Given the description of an element on the screen output the (x, y) to click on. 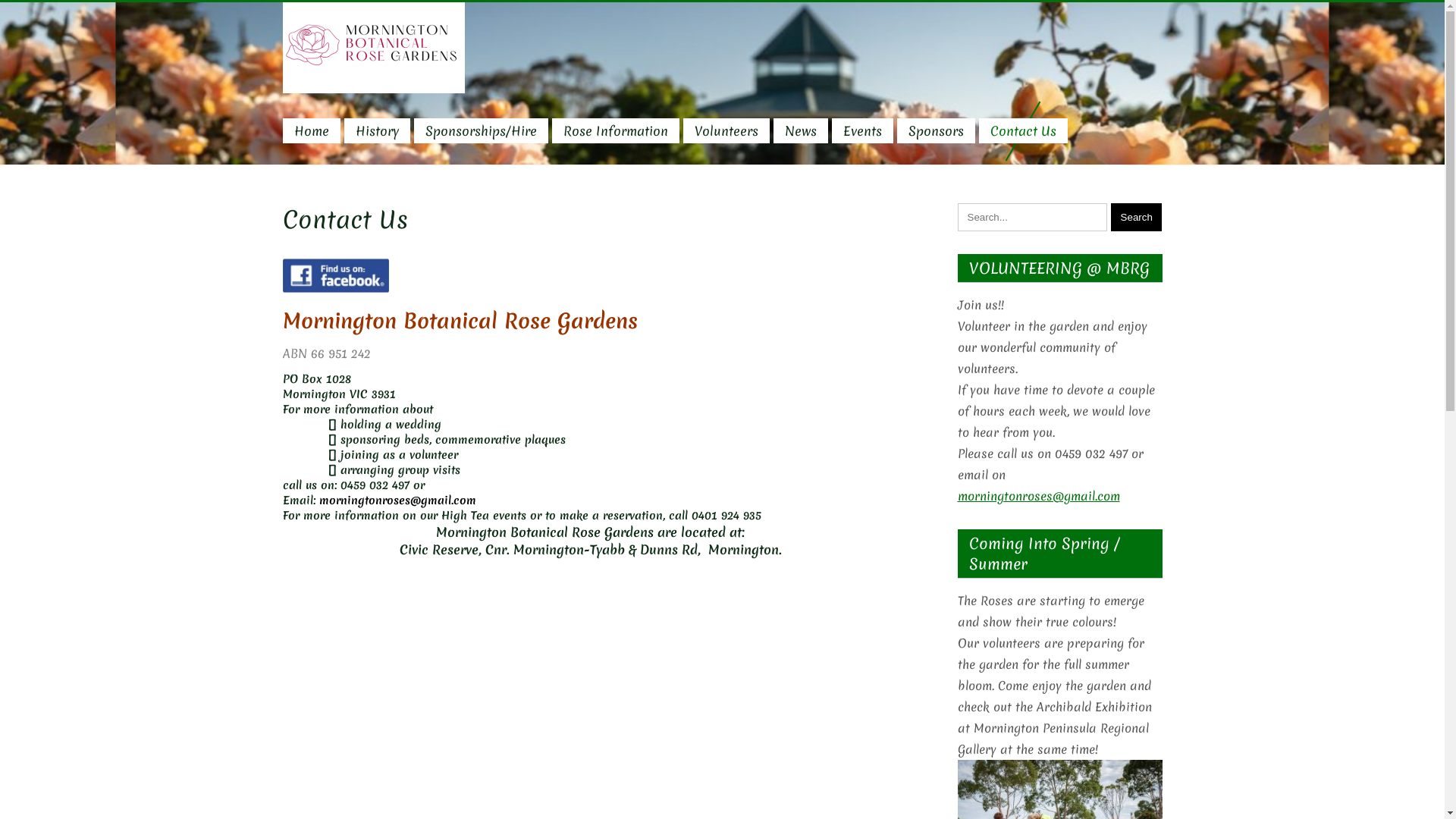
Home Element type: text (310, 130)
Events Element type: text (861, 130)
MORNINGTON BOTANICAL ROSE GARDENS Element type: text (743, 106)
Sponsors Element type: text (935, 130)
News Element type: text (800, 130)
Volunteers Element type: text (725, 130)
Sponsorships/Hire Element type: text (481, 130)
Rose Information Element type: text (615, 130)
Contact Us Element type: text (1022, 130)
morningtonroses@gmail.com Element type: text (1038, 495)
History Element type: text (377, 130)
Search Element type: text (1136, 217)
